Given the description of an element on the screen output the (x, y) to click on. 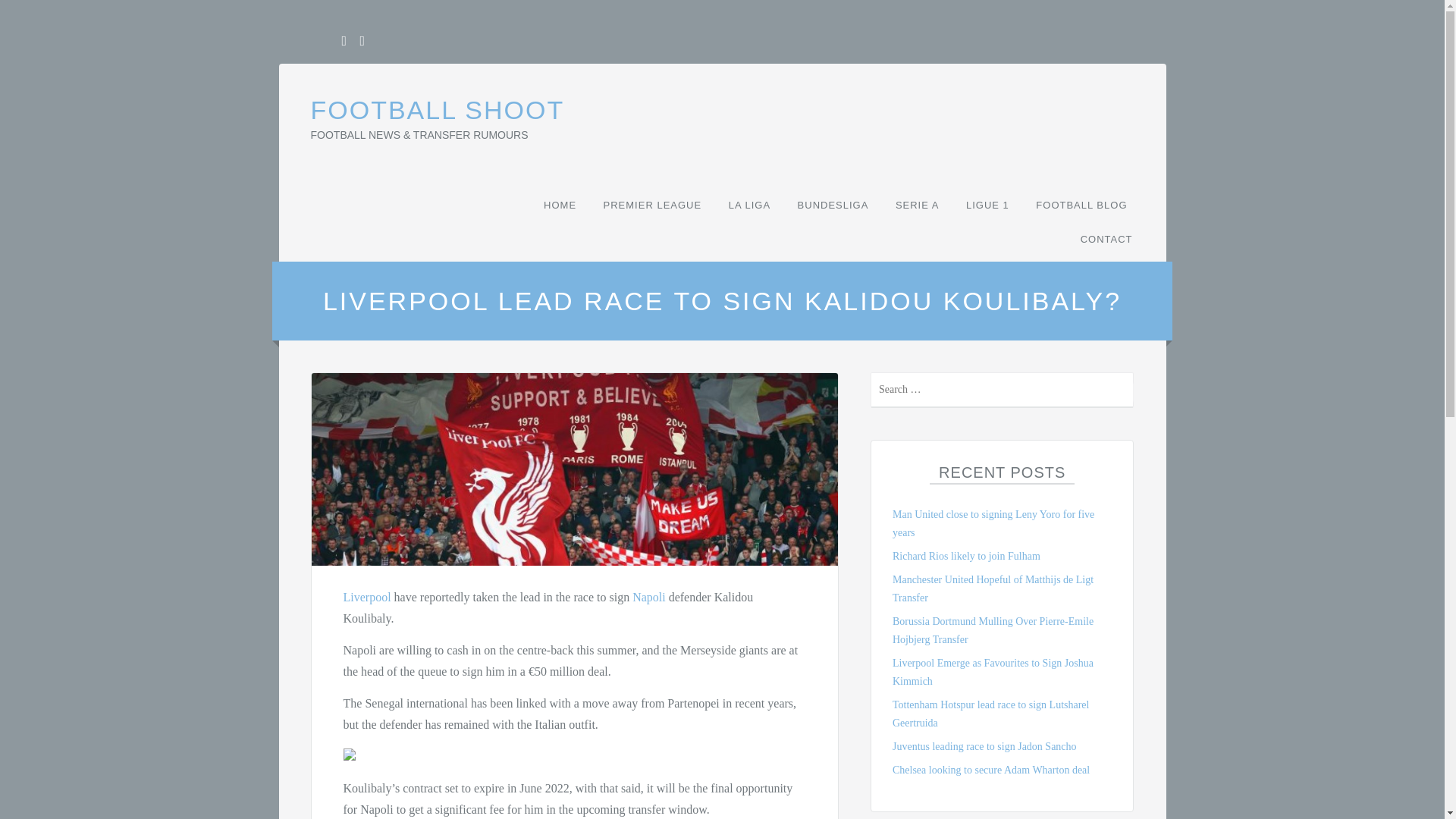
LA LIGA (749, 205)
Tottenham Hotspur lead race to sign Lutsharel Geertruida (990, 713)
PREMIER LEAGUE (652, 205)
Search for: (1002, 389)
HOME (560, 205)
FOOTBALL BLOG (1081, 205)
FOOTBALL SHOOT (437, 109)
Liverpool (366, 596)
Man United close to signing Leny Yoro for five years (993, 523)
Liverpool Emerge as Favourites to Sign Joshua Kimmich (992, 672)
Richard Rios likely to join Fulham (966, 555)
Napoli (648, 596)
SERIE A (917, 205)
BUNDESLIGA (833, 205)
Go to homepage (437, 109)
